Given the description of an element on the screen output the (x, y) to click on. 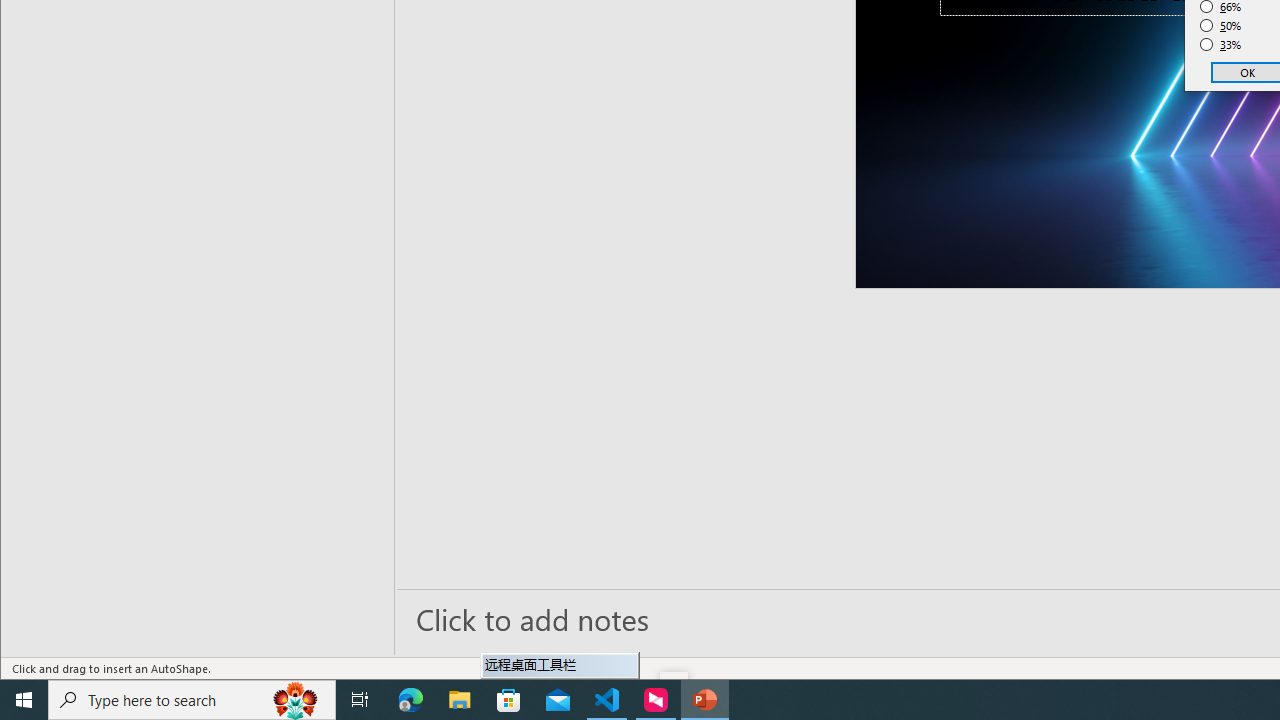
50% (1221, 25)
33% (1221, 44)
